Given the description of an element on the screen output the (x, y) to click on. 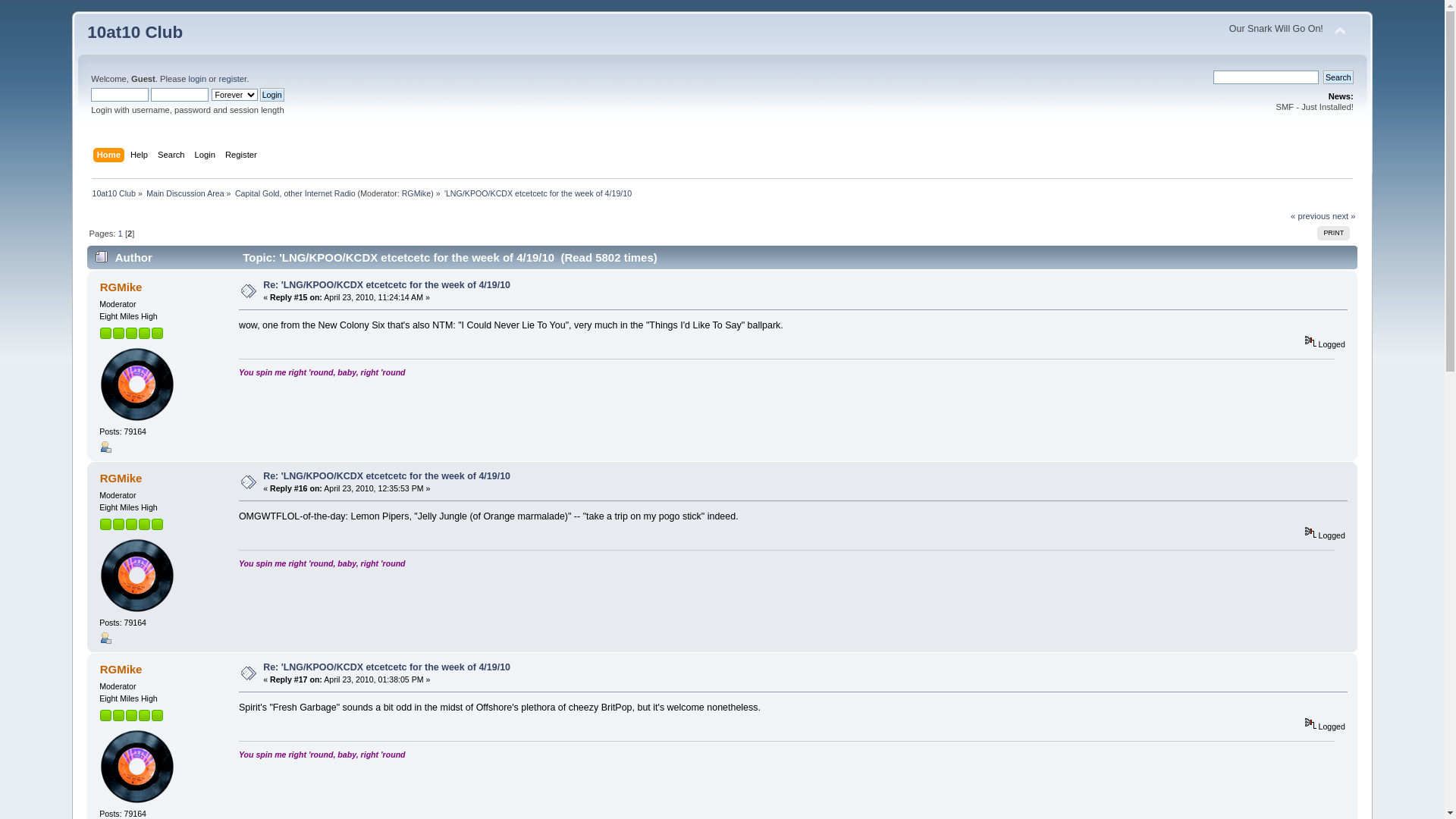
Capital Gold, other Internet Radio Element type: text (295, 192)
Shrink or expand the header. Element type: hover (1339, 31)
Login Element type: text (272, 94)
RGMike Element type: text (121, 286)
Re: 'LNG/KPOO/KCDX etcetcetc for the week of 4/19/10 Element type: text (386, 667)
RGMike Element type: text (415, 192)
View Profile Element type: hover (105, 446)
10at10 Club Element type: text (134, 31)
Main Discussion Area Element type: text (184, 192)
Home Element type: text (110, 155)
View Profile Element type: hover (105, 637)
10at10 Club Element type: text (112, 192)
Re: 'LNG/KPOO/KCDX etcetcetc for the week of 4/19/10 Element type: text (386, 284)
RGMike Element type: text (121, 477)
Re: 'LNG/KPOO/KCDX etcetcetc for the week of 4/19/10 Element type: text (386, 475)
RGMike Element type: text (121, 668)
'LNG/KPOO/KCDX etcetcetc for the week of 4/19/10   Element type: text (540, 192)
Help Element type: text (140, 155)
login Element type: text (197, 78)
1 Element type: text (120, 233)
Search Element type: text (172, 155)
Search Element type: text (1338, 77)
register Element type: text (232, 78)
Login Element type: text (206, 155)
PRINT Element type: text (1333, 232)
Register Element type: text (242, 155)
